Given the description of an element on the screen output the (x, y) to click on. 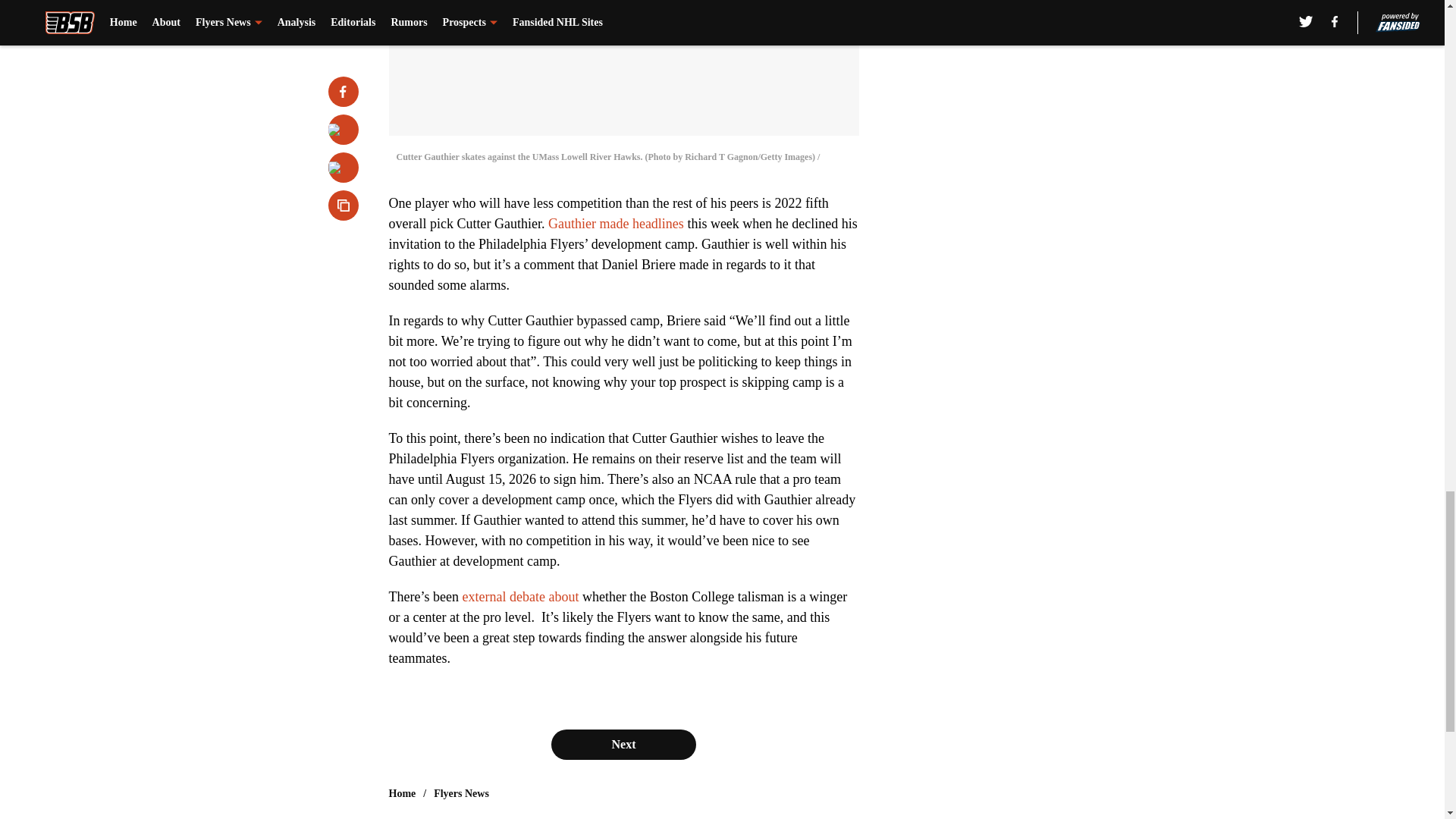
external debate about (518, 596)
Home (401, 793)
Flyers News (461, 793)
Gauthier made headlines (616, 223)
Next (622, 744)
